Given the description of an element on the screen output the (x, y) to click on. 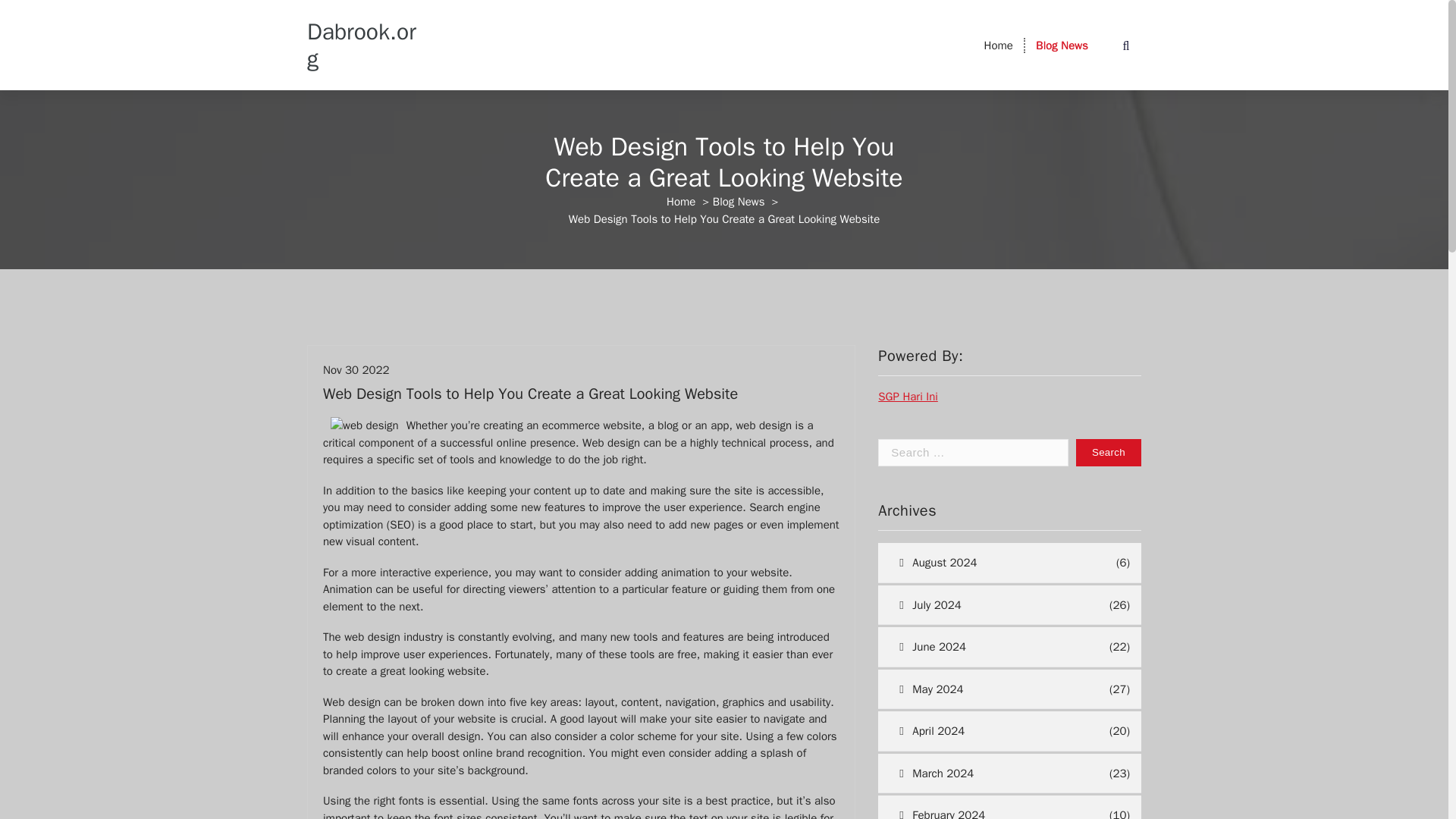
Blog News (739, 201)
Home (998, 45)
Search (1108, 452)
Search (1108, 452)
SGP Hari Ini (907, 396)
February 2024 (991, 807)
April 2024 (991, 731)
August 2024 (994, 562)
May 2024 (991, 689)
March 2024 (991, 773)
Search (1108, 452)
Blog News (1061, 45)
June 2024 (991, 647)
Dabrook.org (366, 45)
July 2024 (991, 605)
